Given the description of an element on the screen output the (x, y) to click on. 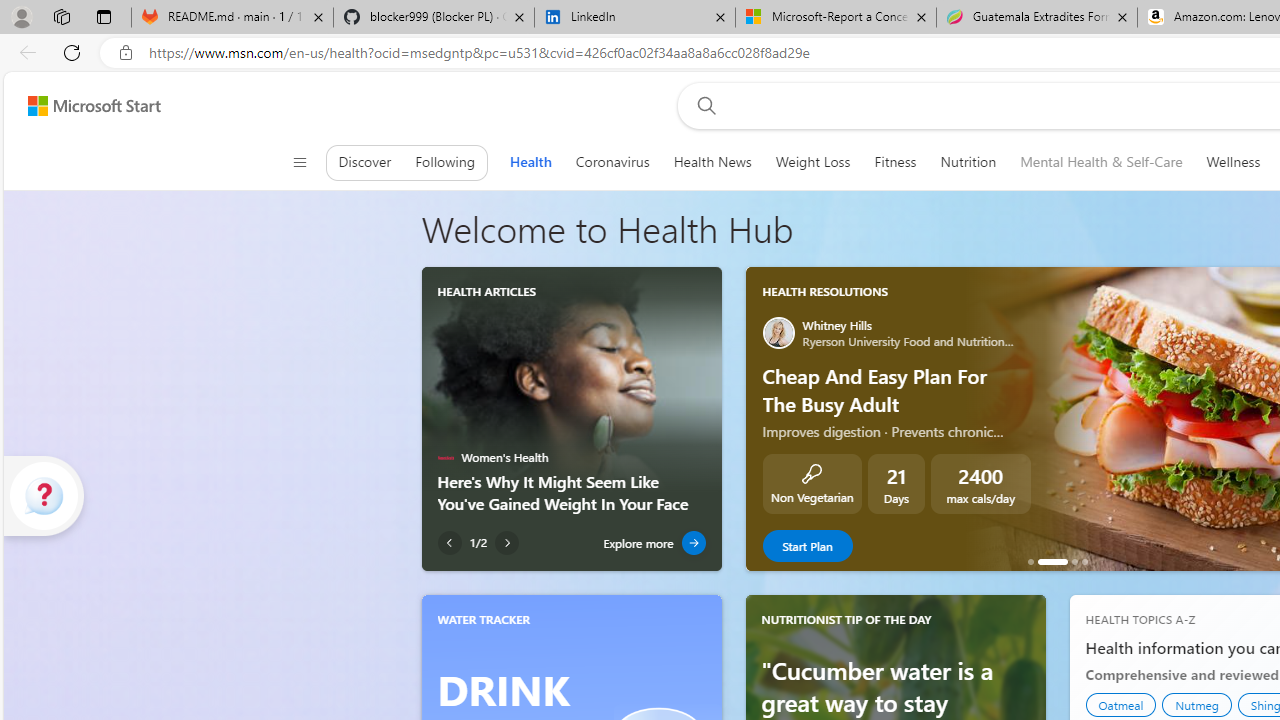
Pictorial representation related to the article (571, 379)
Ask Professionals Widget collapsed  (43, 495)
Mental Health & Self-Care (1101, 161)
Fitness (895, 162)
Oatmeal (1121, 704)
Weight Loss (812, 161)
Start Plan (806, 545)
7 Day Belly Fat Loss Plan (1084, 561)
Class: control icon-only (299, 162)
